Given the description of an element on the screen output the (x, y) to click on. 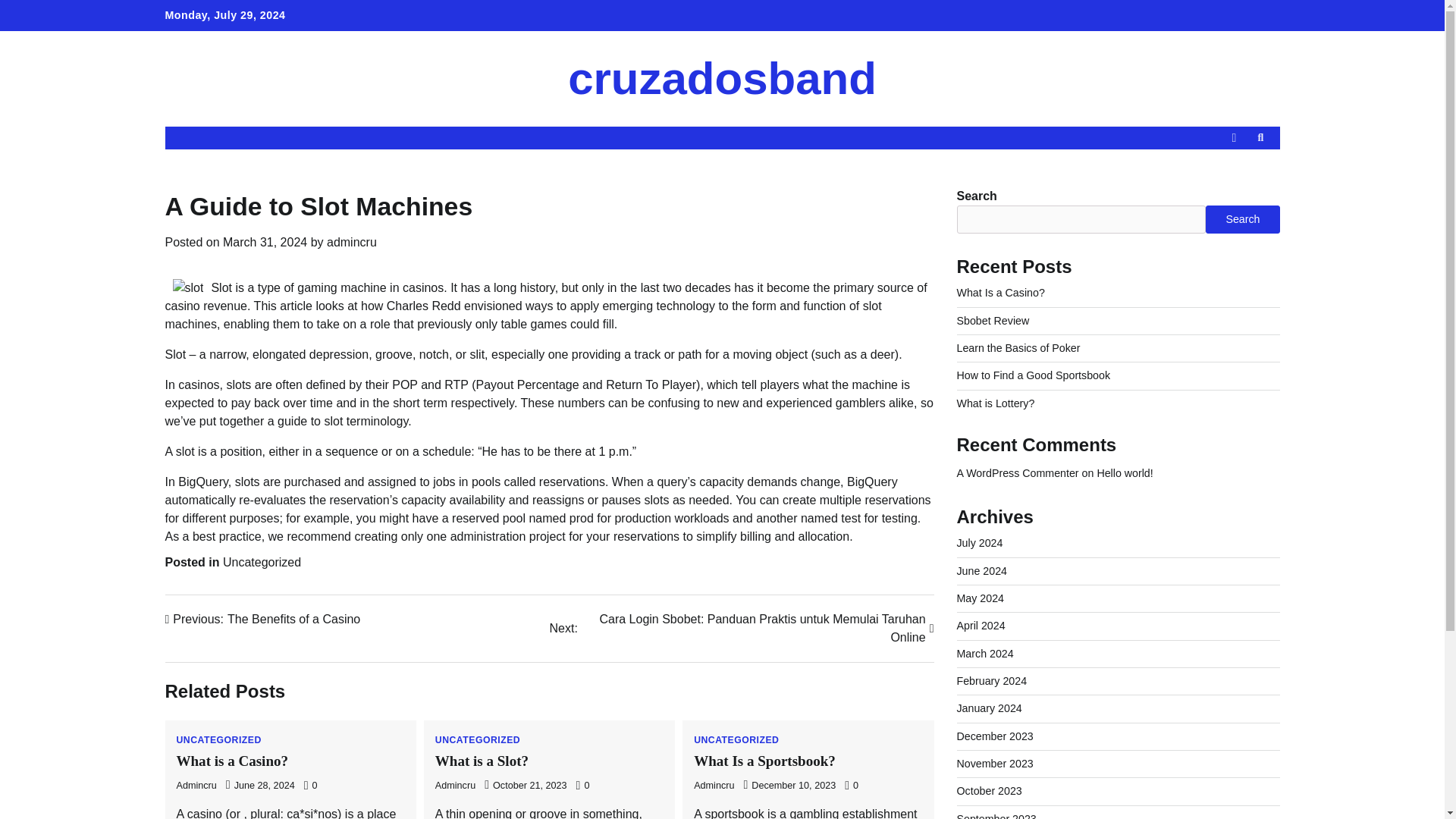
UNCATEGORIZED (477, 739)
October 2023 (263, 619)
What is a Casino? (989, 790)
June 2024 (232, 760)
Hello world! (981, 571)
What is a Slot? (1124, 472)
A WordPress Commenter (481, 760)
What Is a Casino? (1017, 472)
cruzadosband (1000, 292)
November 2023 (721, 78)
What Is a Sportsbook? (994, 763)
UNCATEGORIZED (764, 760)
March 31, 2024 (736, 739)
View Random Post (264, 241)
